Given the description of an element on the screen output the (x, y) to click on. 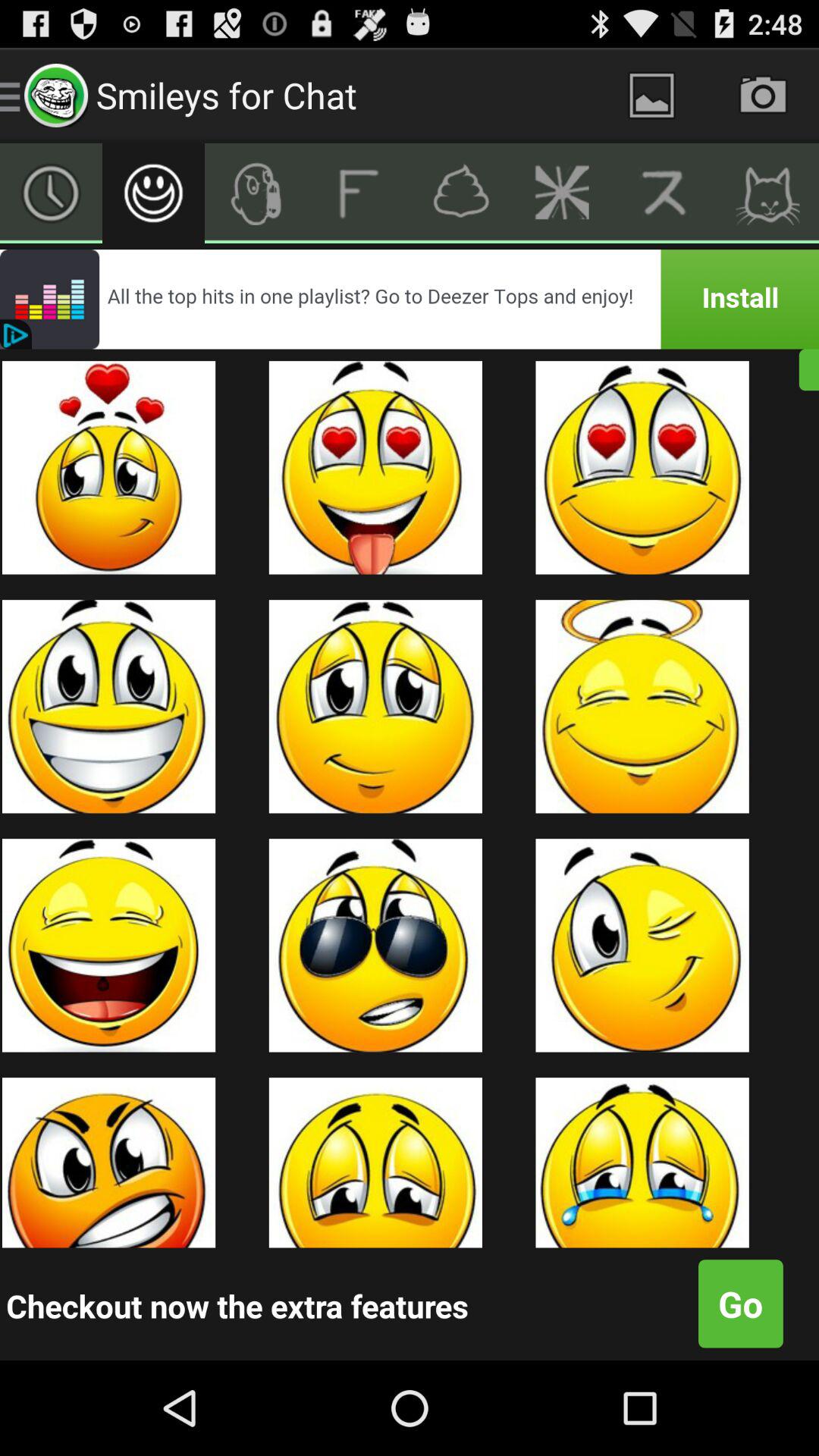
show emoticons category (153, 193)
